Given the description of an element on the screen output the (x, y) to click on. 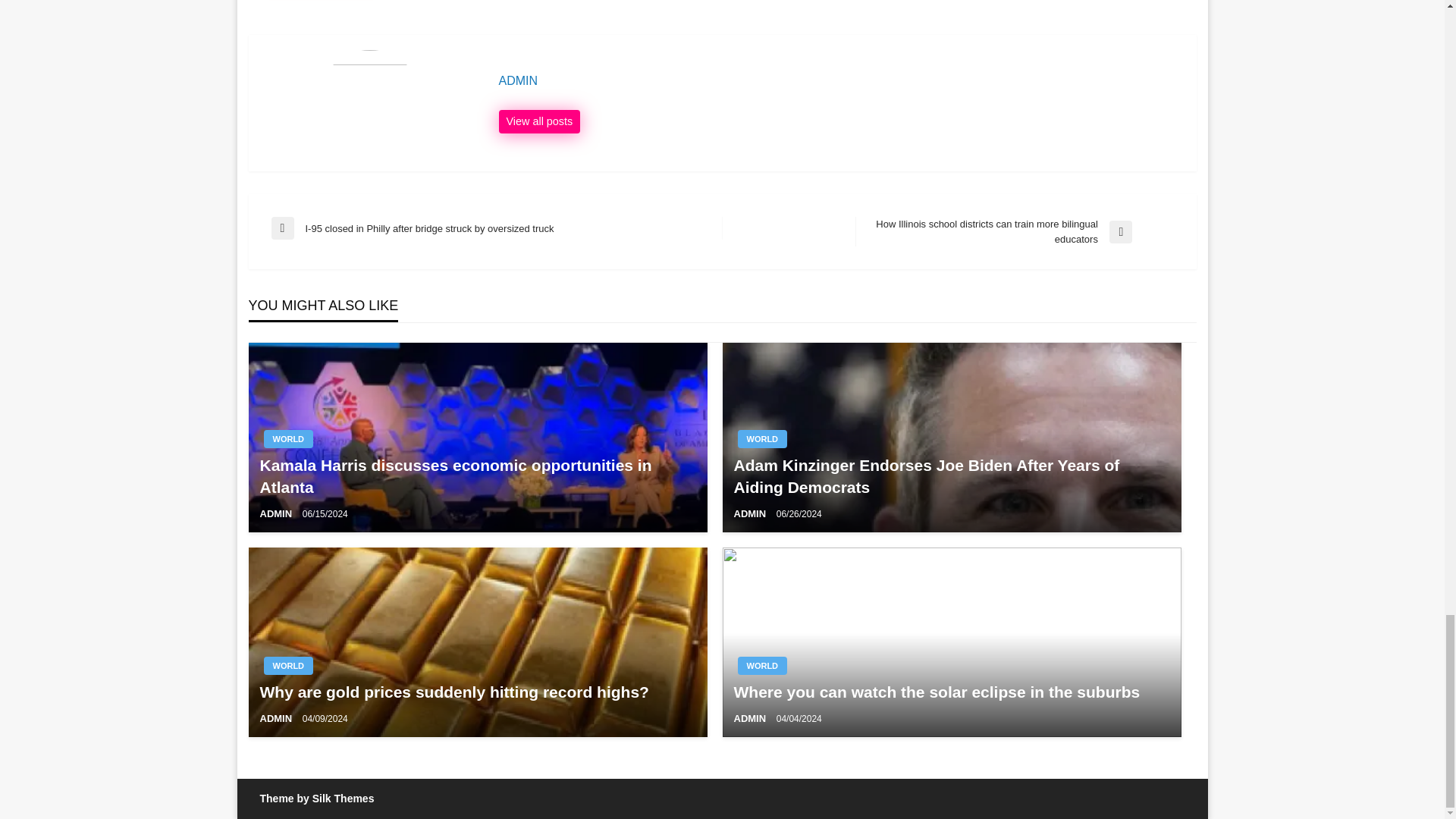
ADMIN (276, 513)
ADMIN (839, 80)
Kamala Harris discusses economic opportunities in Atlanta (477, 476)
ADMIN (839, 80)
WORLD (761, 438)
WORLD (288, 438)
View all posts (539, 121)
ADMIN (539, 121)
